Given the description of an element on the screen output the (x, y) to click on. 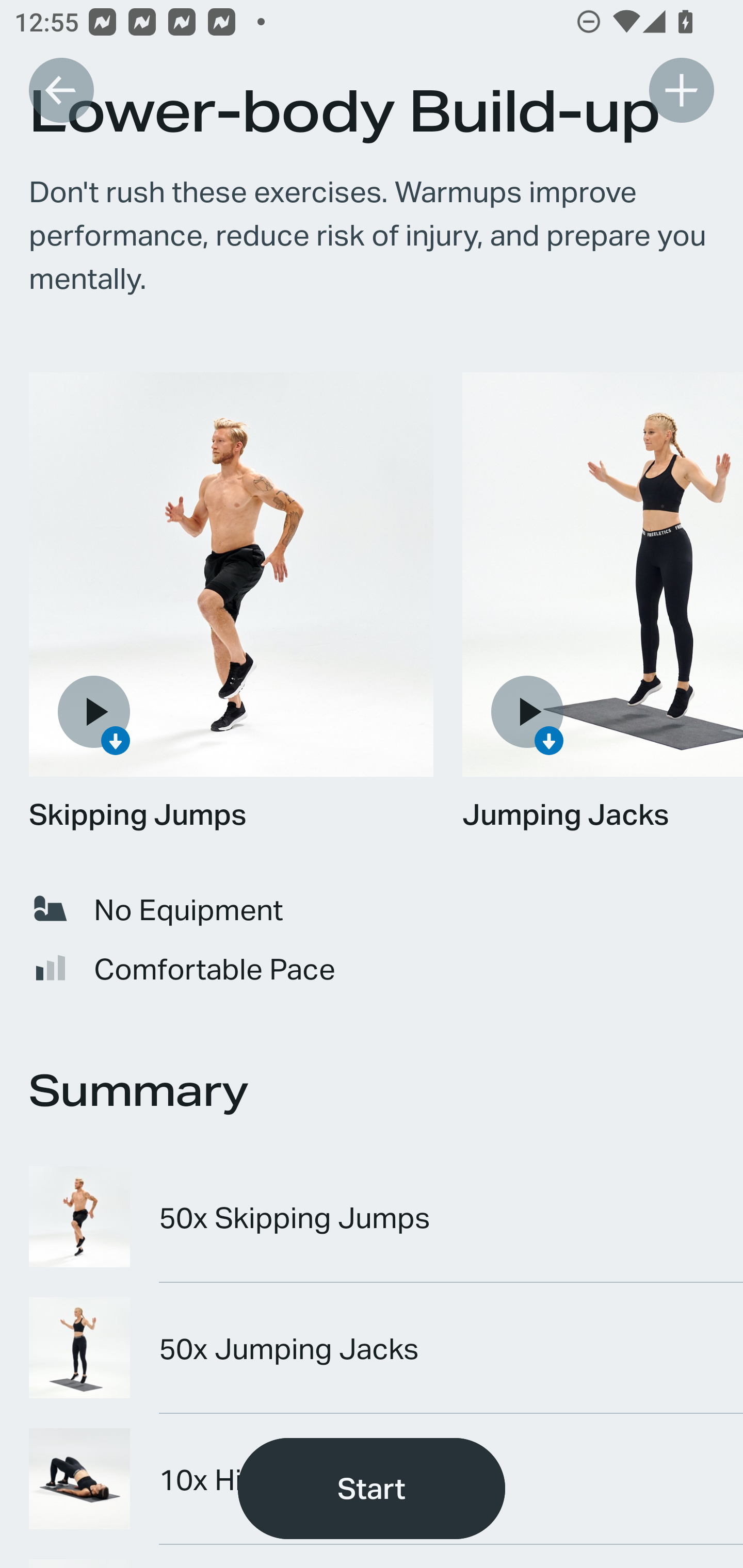
Go back (60, 90)
Log (681, 90)
Start (371, 1488)
